Given the description of an element on the screen output the (x, y) to click on. 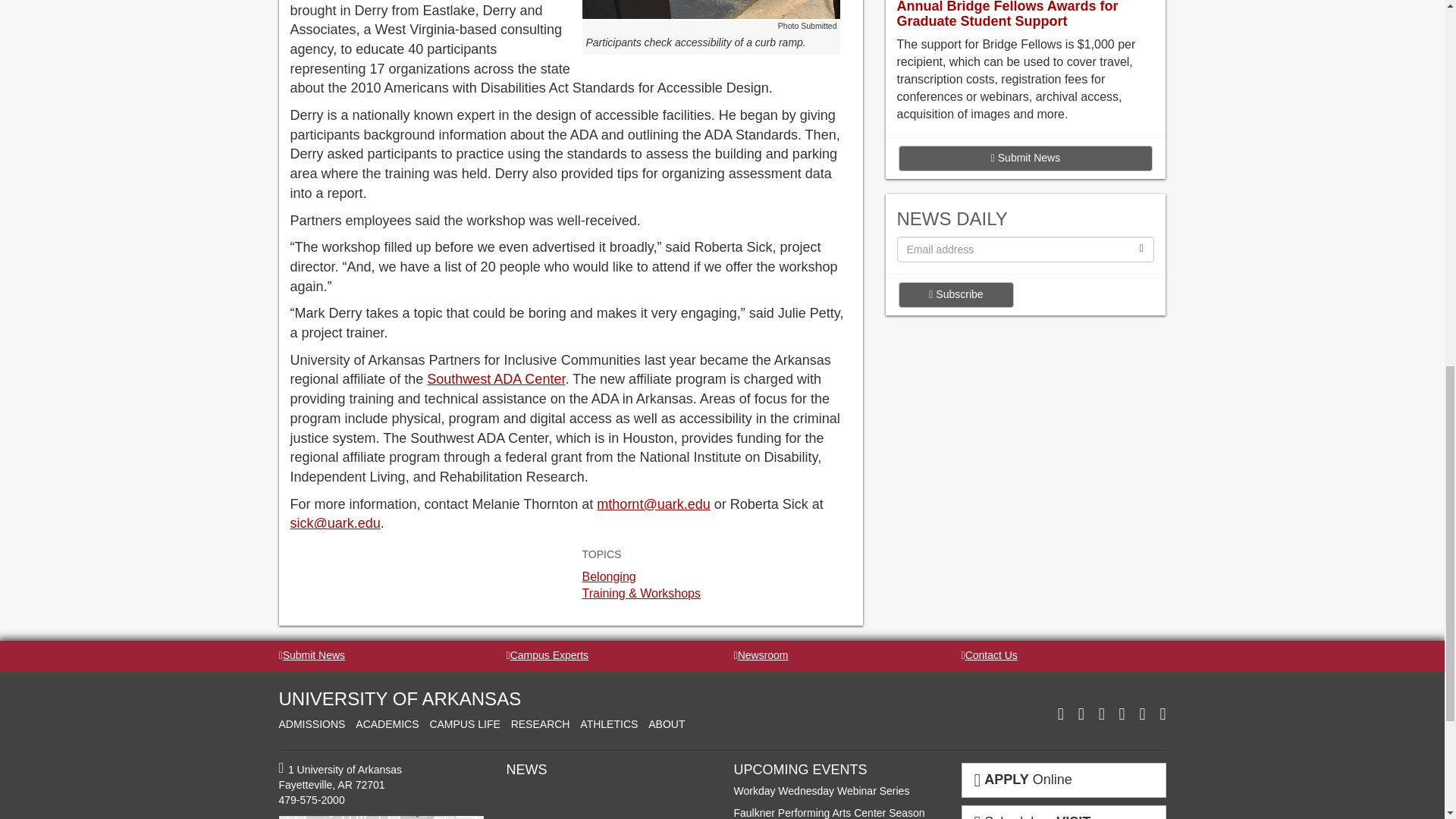
Campus Experts (547, 654)
Newsroom (761, 654)
ATHLETICS (608, 724)
University of Arkansas Athletics (608, 724)
About the University of Arkansas (665, 724)
UNIVERSITY OF ARKANSAS (400, 698)
Contact Us (988, 654)
CAMPUS LIFE (464, 724)
ADMISSIONS (312, 724)
University of Arkansas Research (540, 724)
